Given the description of an element on the screen output the (x, y) to click on. 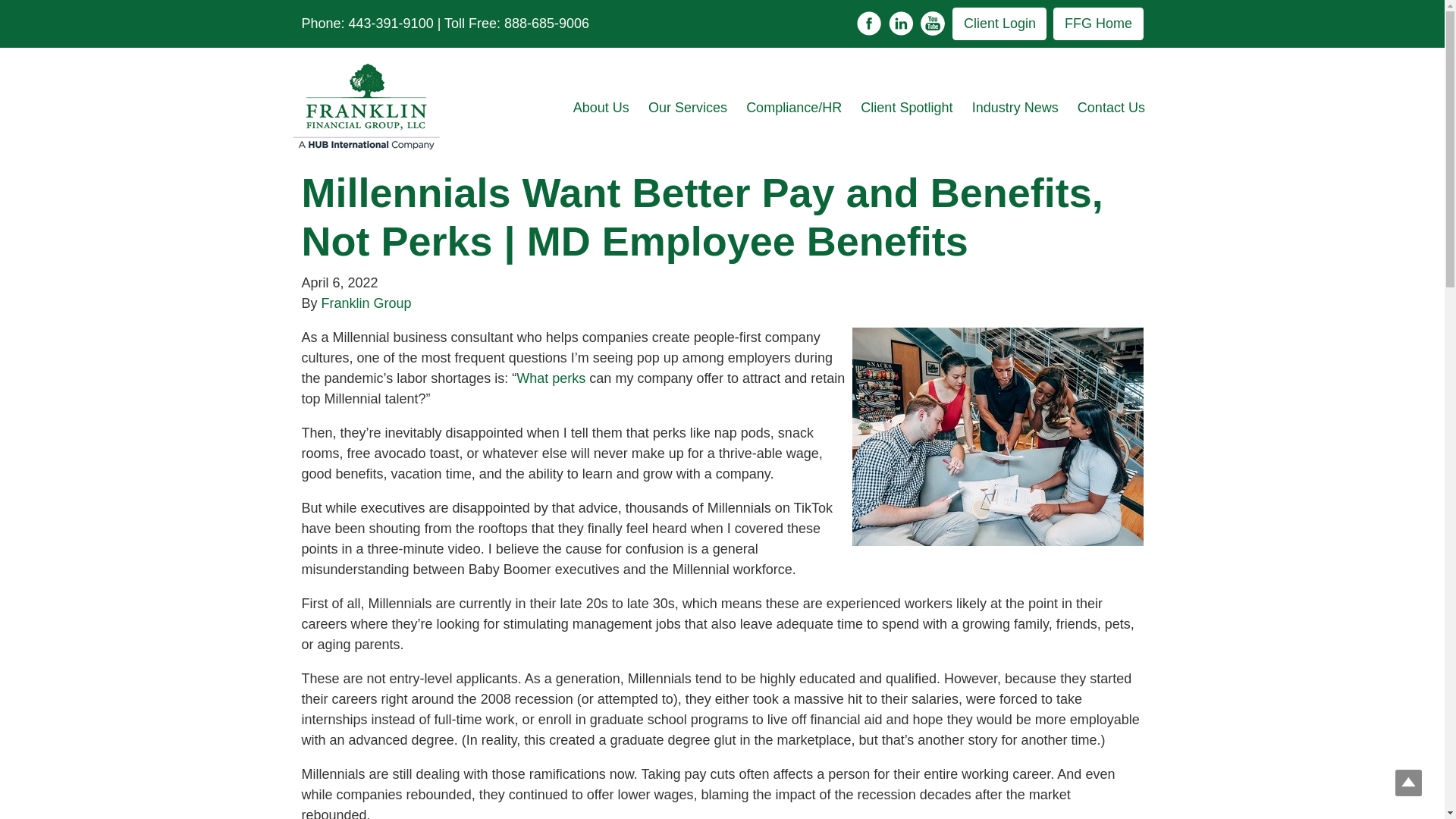
Our Services (687, 107)
Industry News (1014, 107)
Industry News (1014, 107)
About Us (601, 107)
Franklin Group (366, 303)
Our Services (687, 107)
FFG Home (1097, 23)
Scroll to Top (1408, 782)
Client Spotlight (906, 107)
About Us (601, 107)
